Given the description of an element on the screen output the (x, y) to click on. 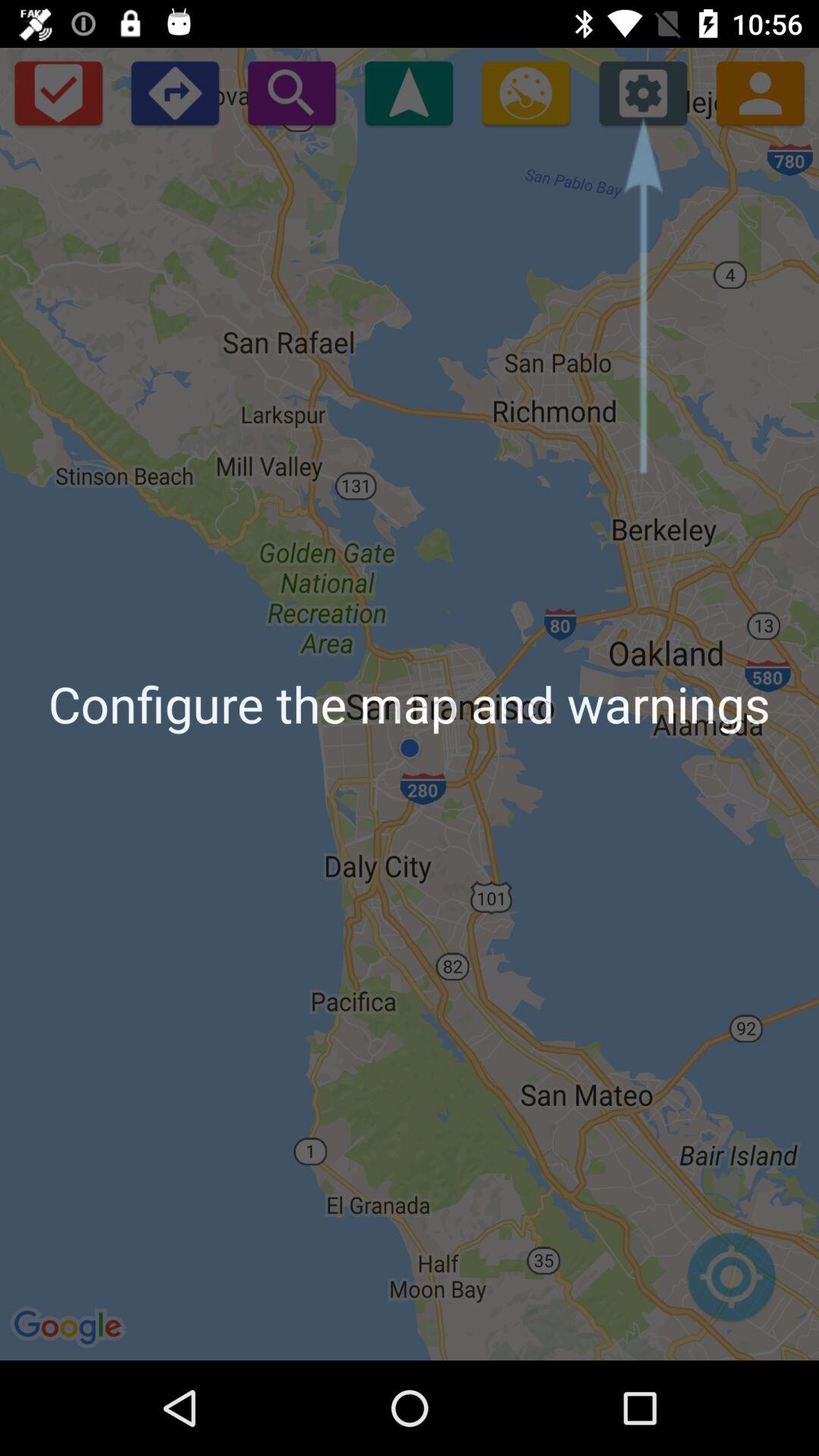
choose the item below the configure the map app (731, 1284)
